Given the description of an element on the screen output the (x, y) to click on. 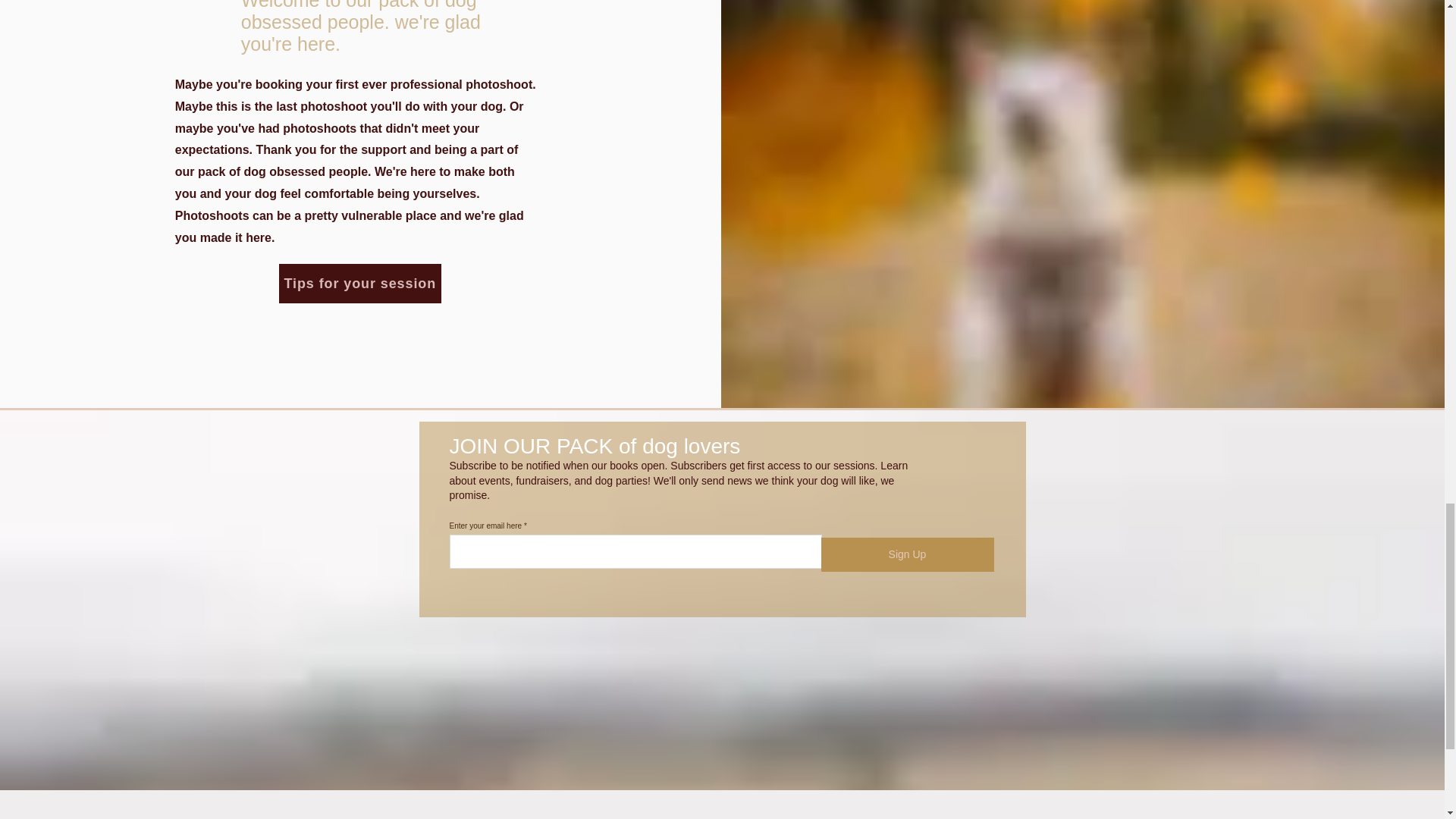
Sign Up (906, 554)
Tips for your session (360, 283)
